Given the description of an element on the screen output the (x, y) to click on. 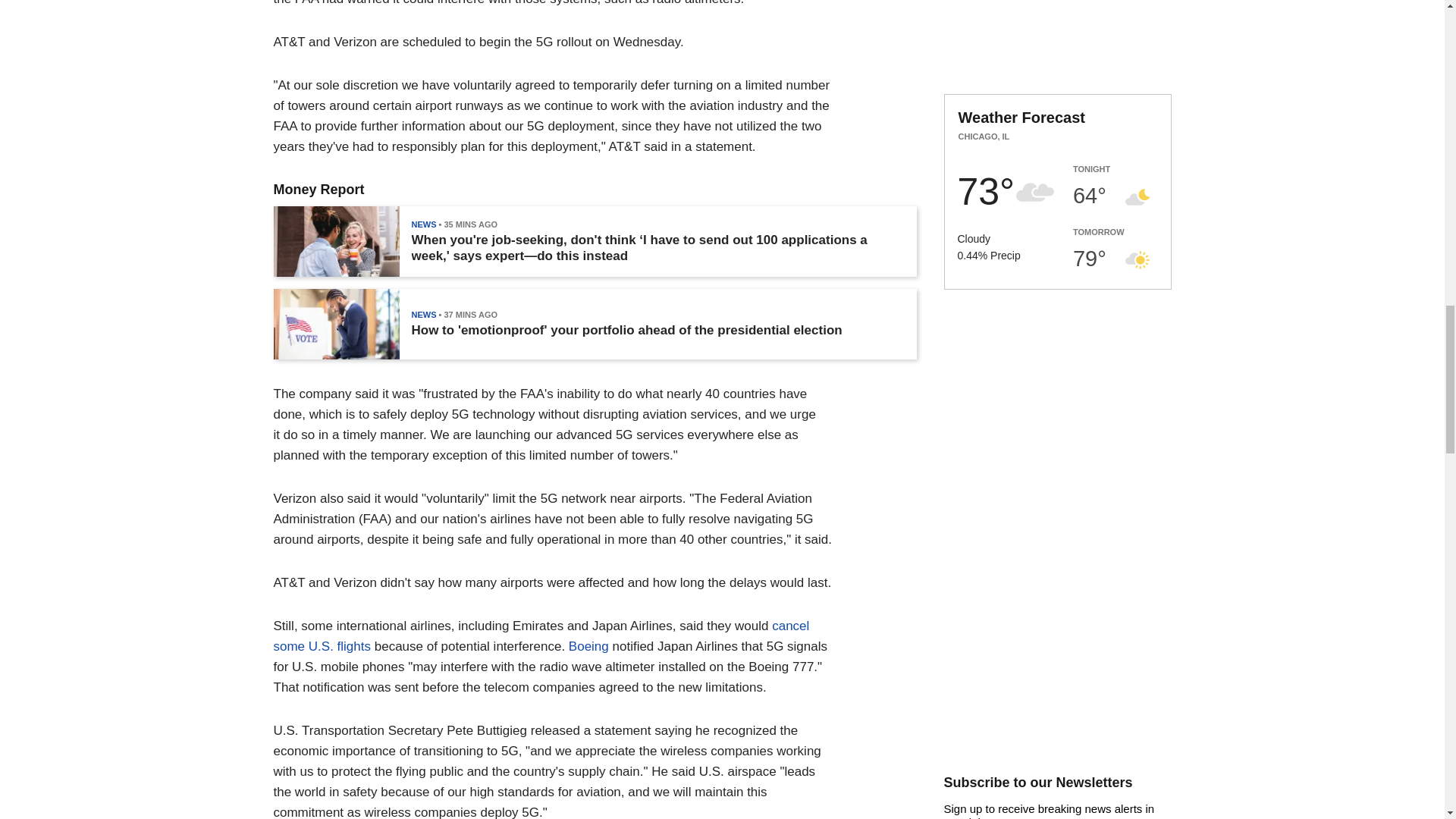
cancel some U.S. flights (541, 636)
NEWS (422, 224)
Boeing (588, 646)
NEWS (422, 314)
